Given the description of an element on the screen output the (x, y) to click on. 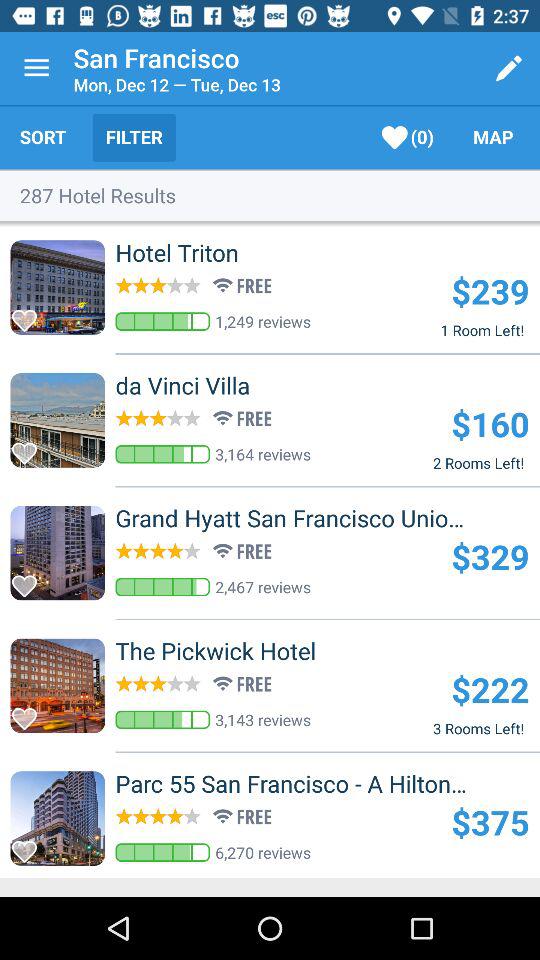
open icon above 1 room left! icon (490, 290)
